Given the description of an element on the screen output the (x, y) to click on. 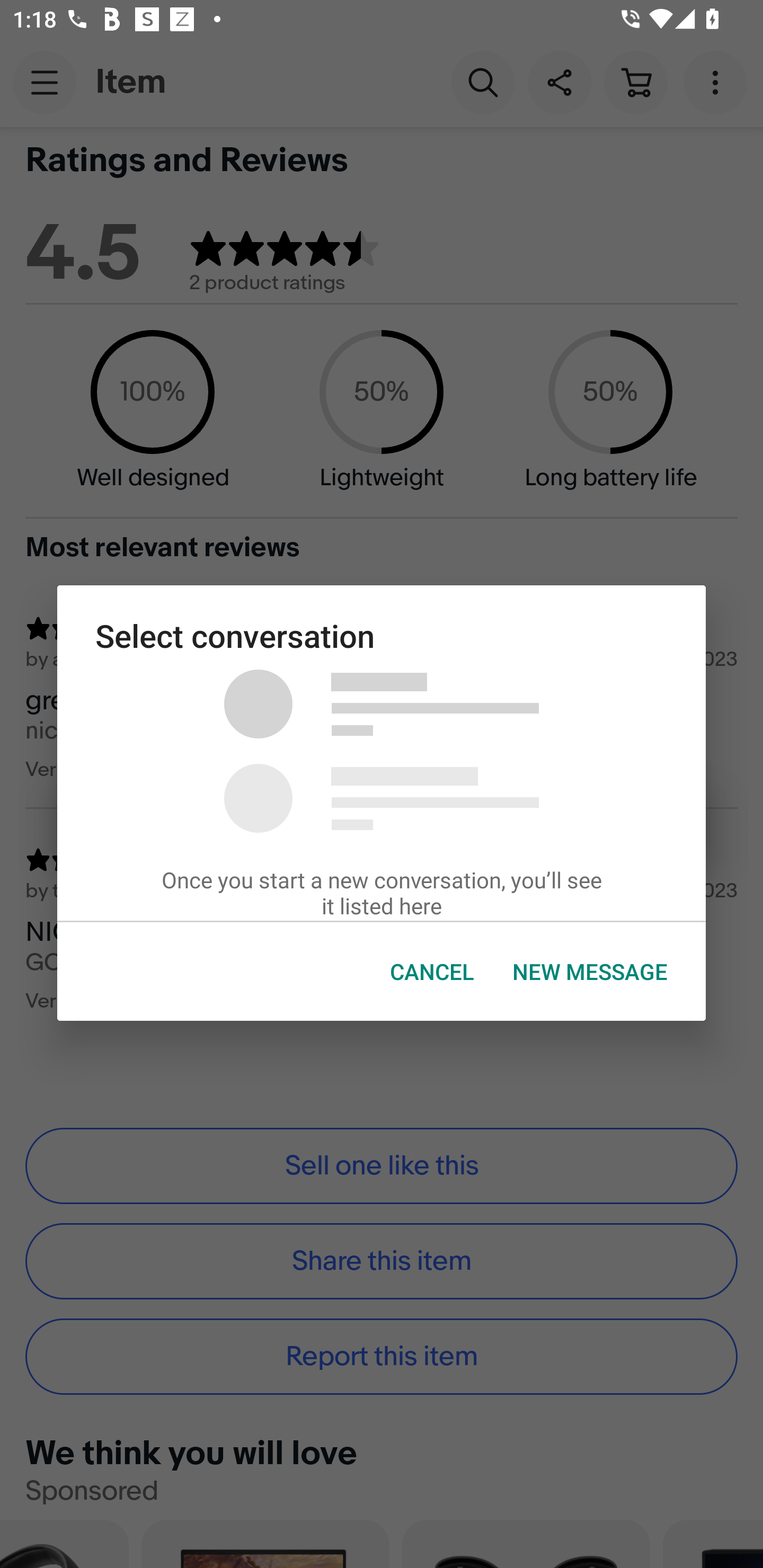
CANCEL (431, 971)
NEW MESSAGE (589, 971)
